Given the description of an element on the screen output the (x, y) to click on. 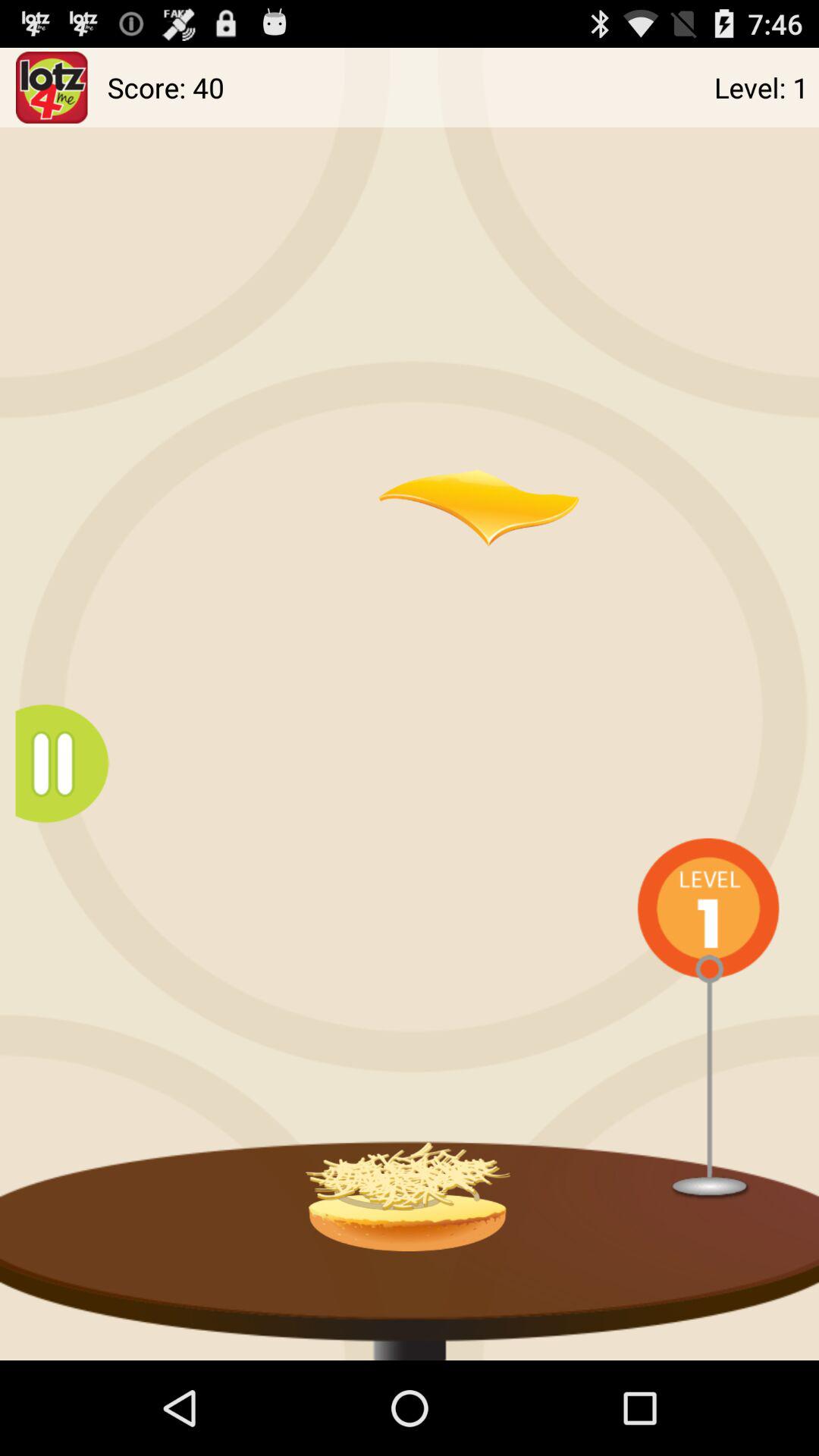
open this app (51, 87)
